Given the description of an element on the screen output the (x, y) to click on. 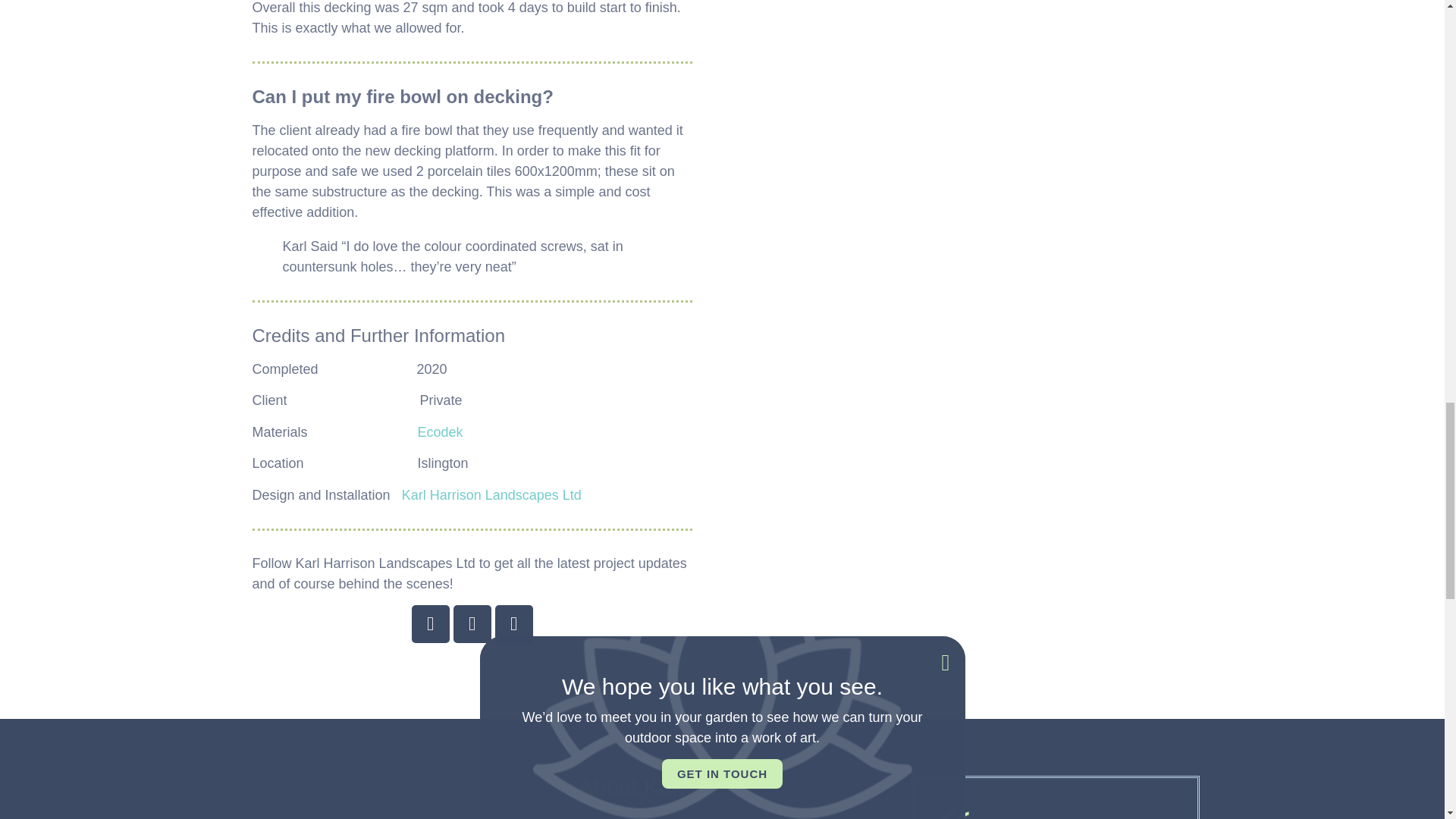
Ecodek (440, 432)
Karl Harrison Landscapes Ltd (490, 494)
